Given the description of an element on the screen output the (x, y) to click on. 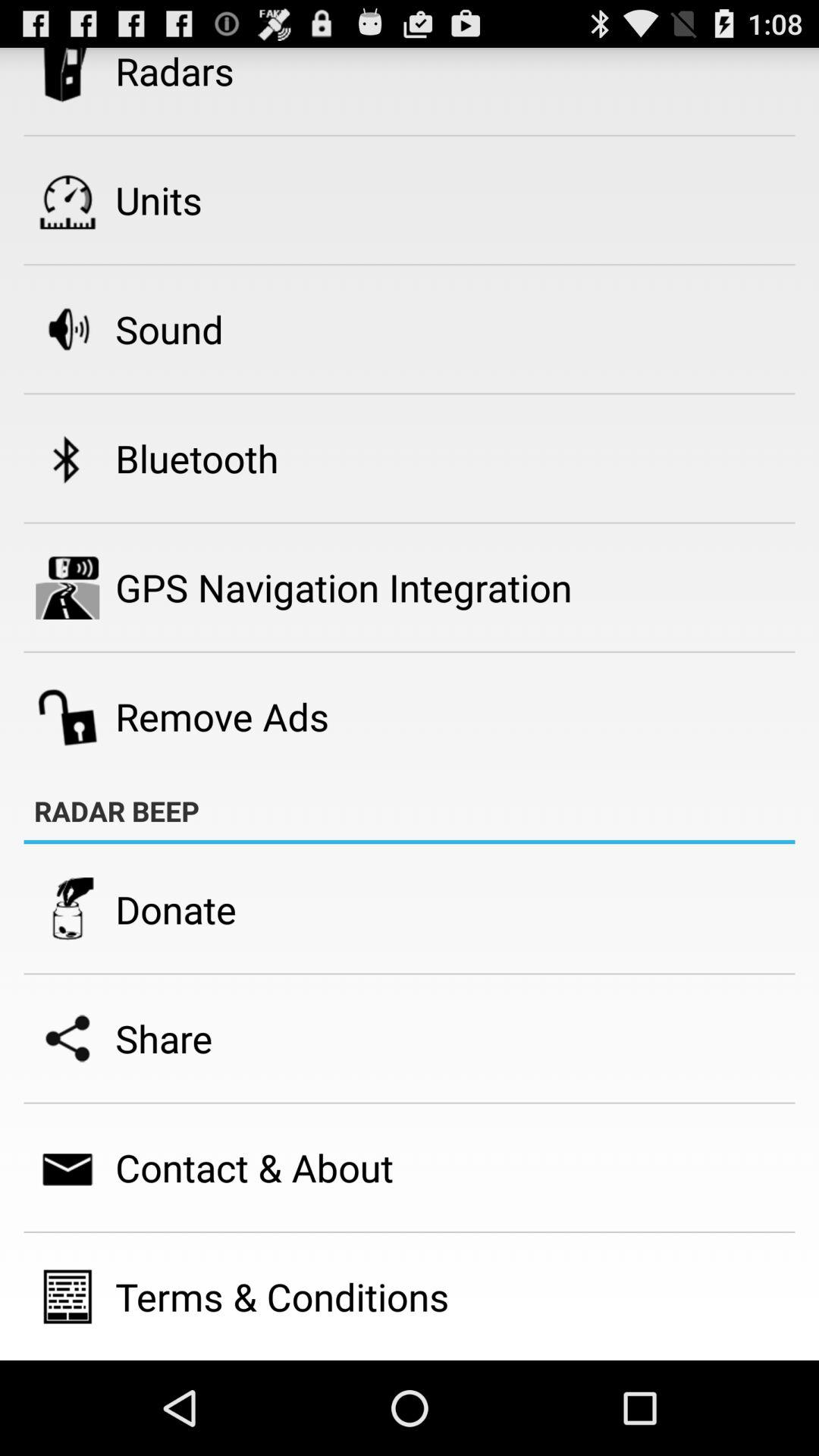
launch units item (158, 199)
